Given the description of an element on the screen output the (x, y) to click on. 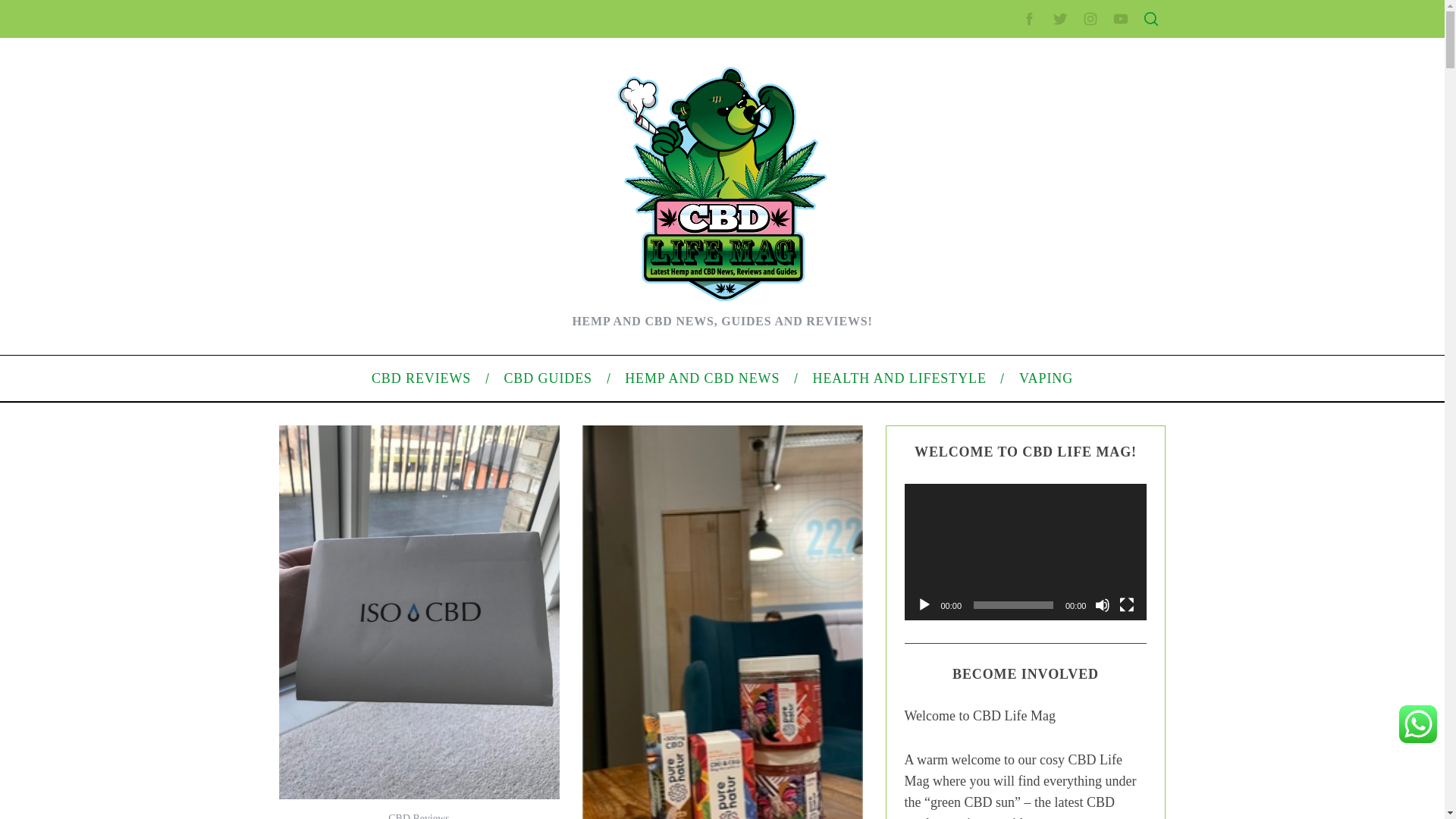
Blog (976, 510)
Skip to content (34, 9)
December 2020 (1004, 432)
Am Joy (339, 514)
Customer Reviews (365, 322)
CUPCAKEDELIGHTS.CO.UK (433, 28)
Terms of Use (996, 330)
Joy On Demand: The Art Of Discovering The Happiness Within (469, 273)
Search (1050, 85)
The Dark Yorkshire Series: Books 4 To 6 (416, 250)
DMCA Policy (996, 282)
Search (1050, 85)
ADMINISTRATOR (417, 81)
Contact Us (991, 258)
